Given the description of an element on the screen output the (x, y) to click on. 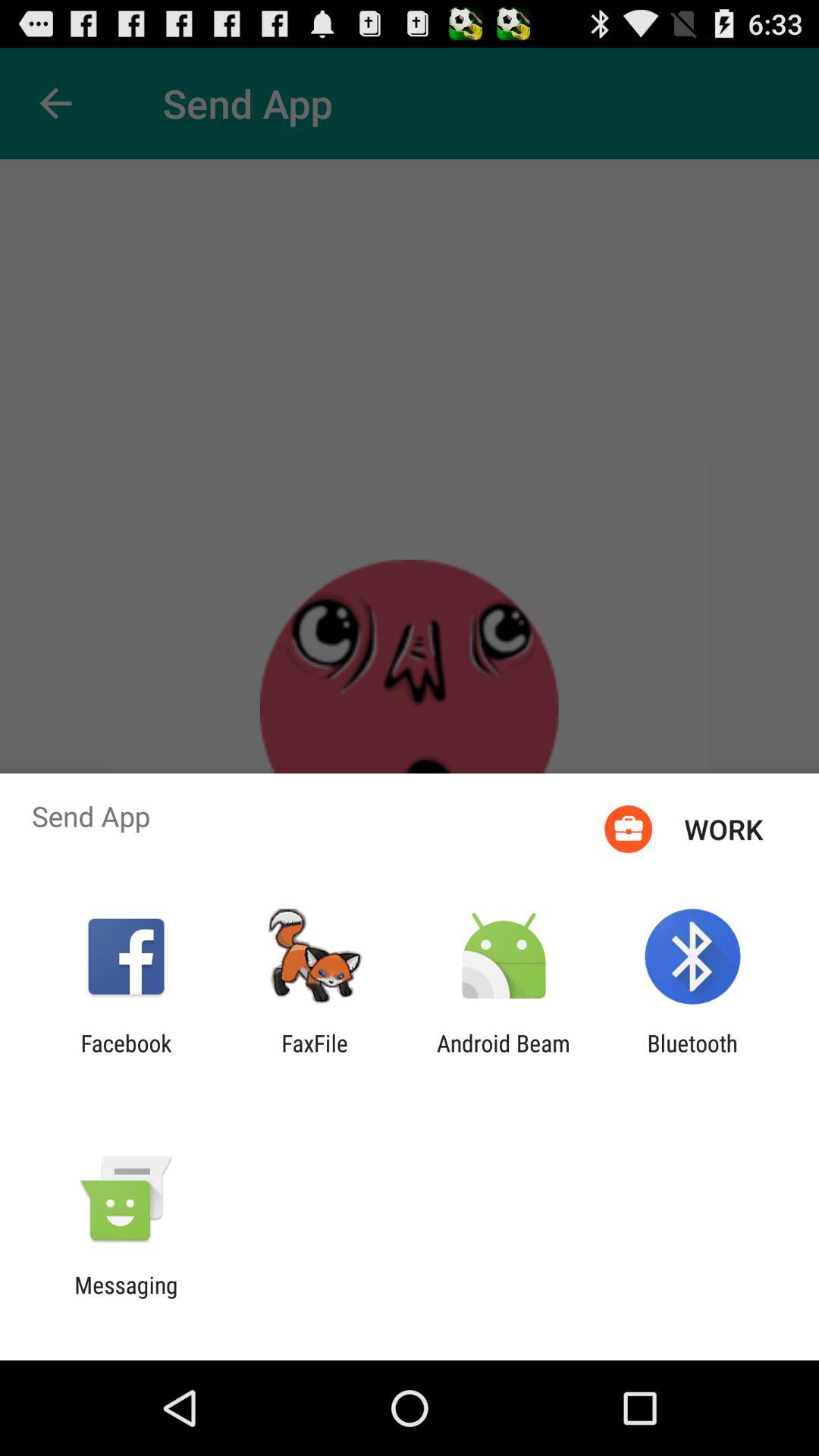
choose item to the left of faxfile item (125, 1056)
